Given the description of an element on the screen output the (x, y) to click on. 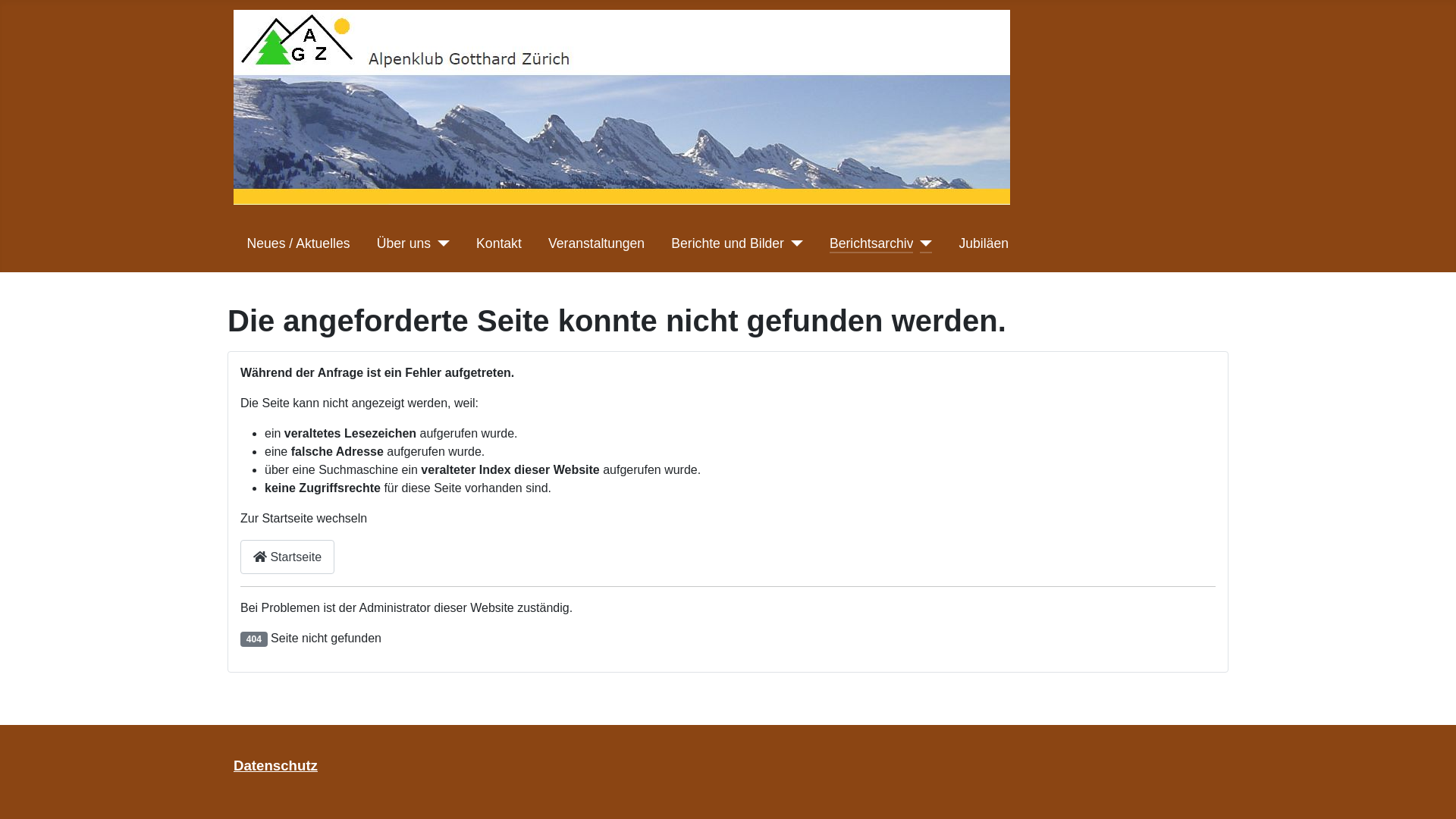
Neues / Aktuelles Element type: text (298, 243)
Kontakt Element type: text (498, 243)
Startseite Element type: text (287, 556)
Datenschutz Element type: text (275, 765)
Berichtsarchiv Element type: text (871, 243)
Berichte und Bilder Element type: text (727, 243)
Veranstaltungen Element type: text (596, 243)
